Given the description of an element on the screen output the (x, y) to click on. 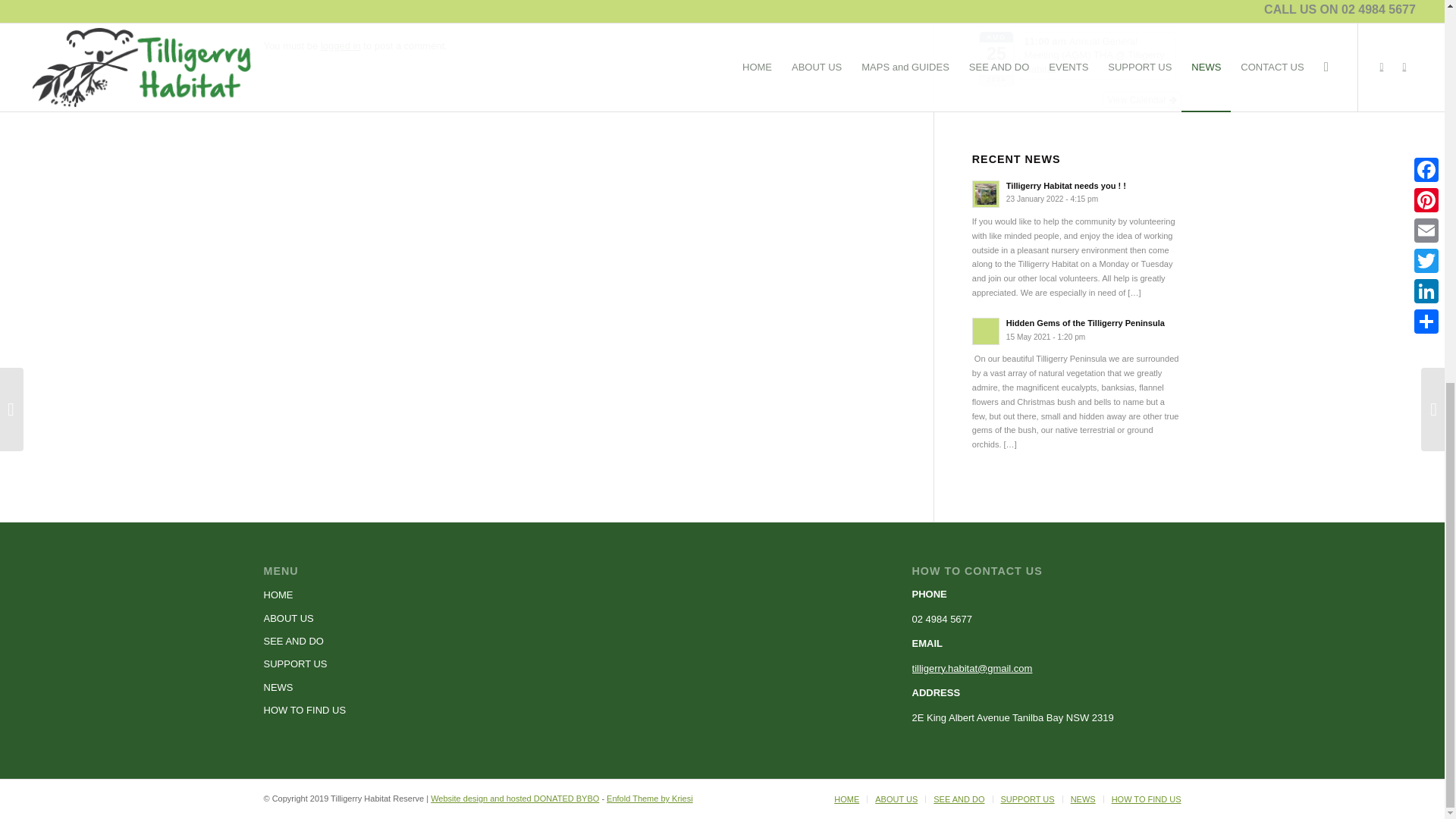
logged in (340, 45)
Tilligerry Habitat needs you ! ! (1076, 192)
Hidden Gems of the Tilligerry Peninsula (1076, 329)
